Given the description of an element on the screen output the (x, y) to click on. 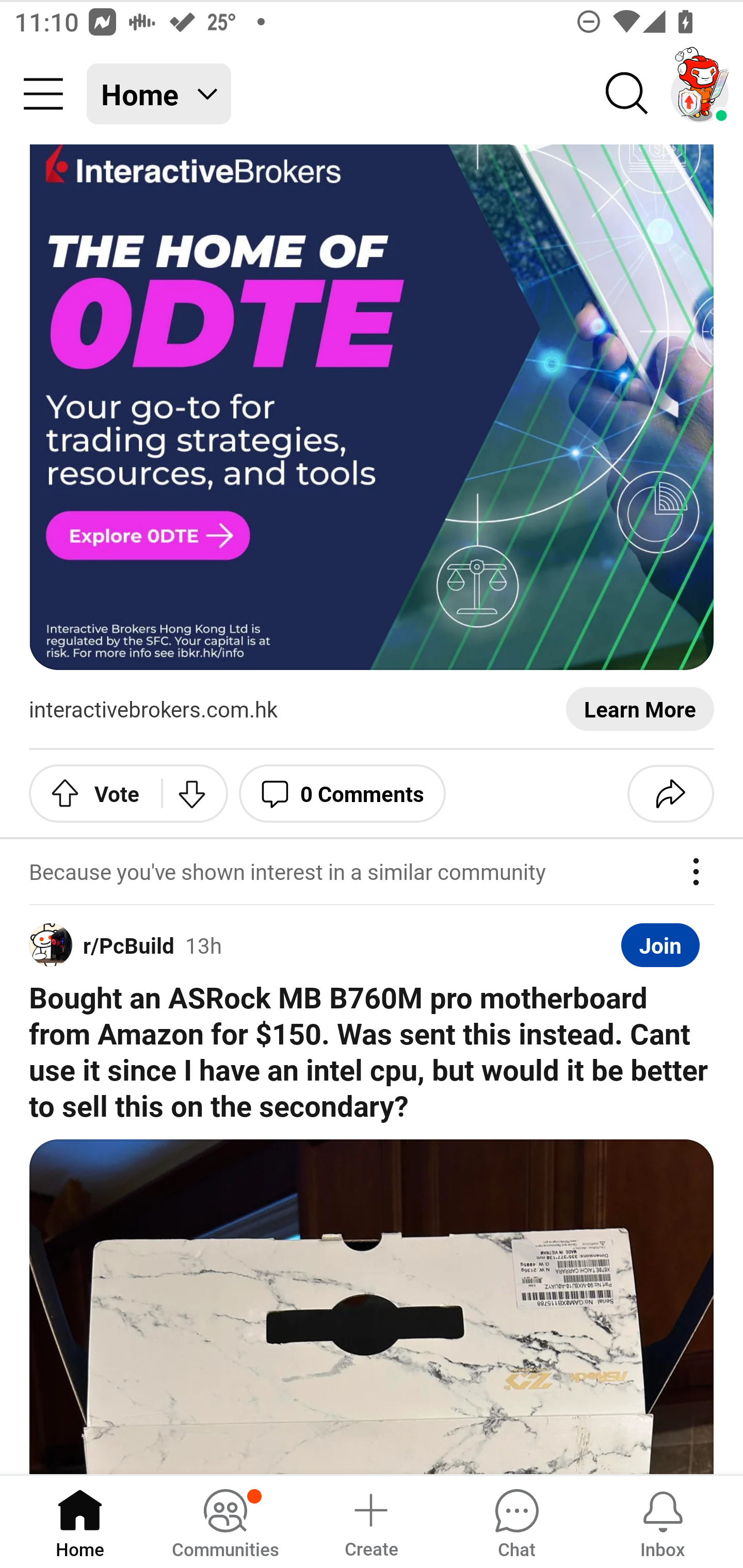
Community menu (43, 93)
Home Home feed (158, 93)
Search (626, 93)
TestAppium002 account (699, 93)
1 of 2, Image, In Image gallery (371, 1306)
Home (80, 1520)
Communities, has notifications Communities (225, 1520)
Create a post Create (370, 1520)
Chat (516, 1520)
Inbox (662, 1520)
